Given the description of an element on the screen output the (x, y) to click on. 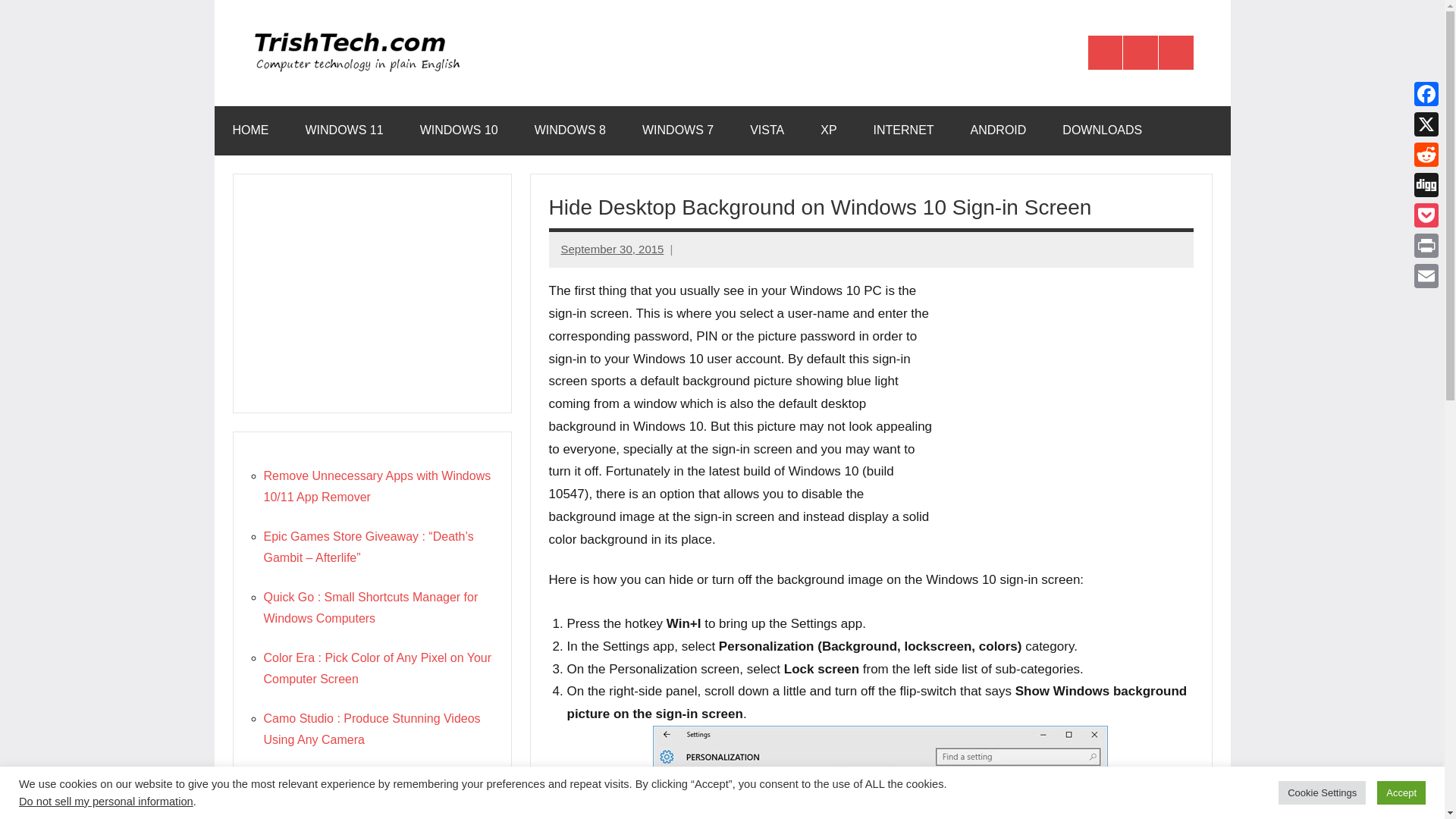
Pocket (1425, 214)
X (1139, 53)
INTERNET (904, 130)
X (1425, 123)
WINDOWS 7 (678, 130)
Quick Go : Small Shortcuts Manager for Windows Computers (371, 607)
Pocket (1425, 214)
Email (1425, 276)
Reddit (1425, 154)
Facebook (1425, 93)
